Given the description of an element on the screen output the (x, y) to click on. 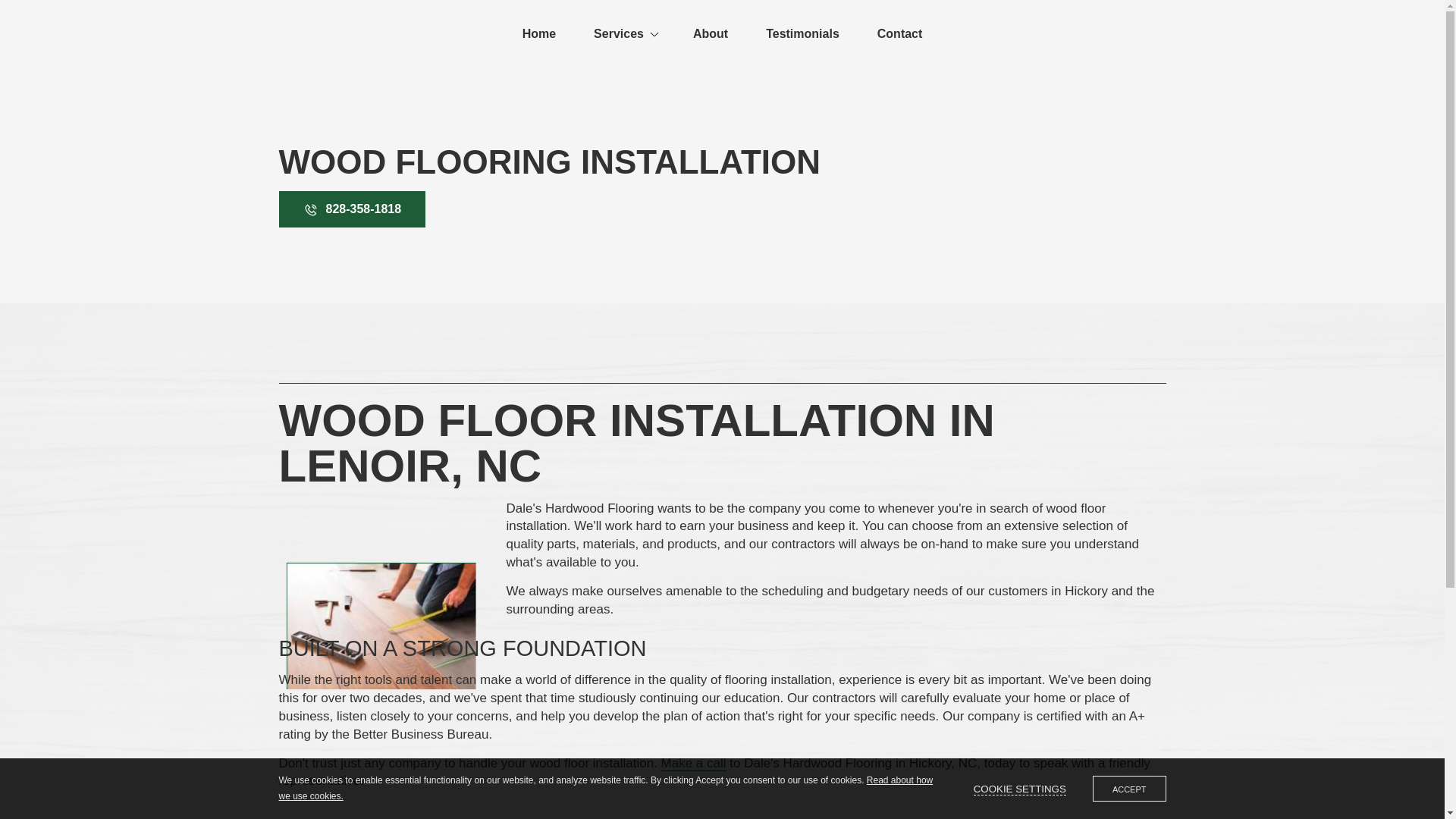
828-358-1818 (352, 208)
ACCEPT (1129, 788)
Make a call (693, 763)
Read about how we use cookies. (606, 787)
Home (538, 33)
Wood Flooring Installation (380, 625)
Contact (899, 33)
About (710, 33)
Services (623, 33)
COOKIE SETTINGS (1019, 788)
Testimonials (802, 33)
